Given the description of an element on the screen output the (x, y) to click on. 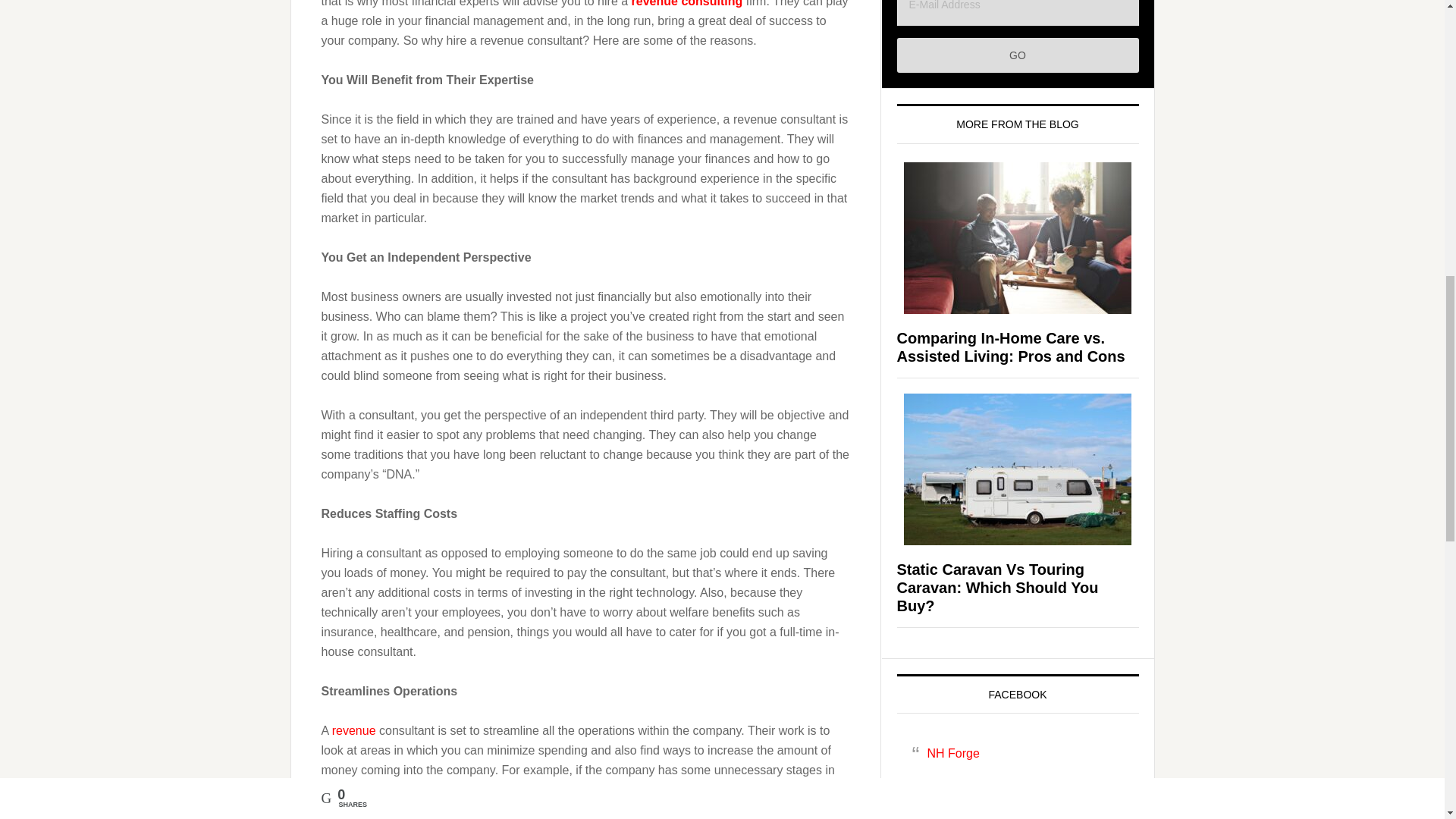
Go (1017, 54)
Go (1017, 54)
revenue (353, 730)
NH Forge (952, 753)
Comparing In-Home Care vs. Assisted Living: Pros and Cons (1010, 347)
revenue consulting (686, 3)
Static Caravan Vs Touring Caravan: Which Should You Buy? (996, 587)
